Given the description of an element on the screen output the (x, y) to click on. 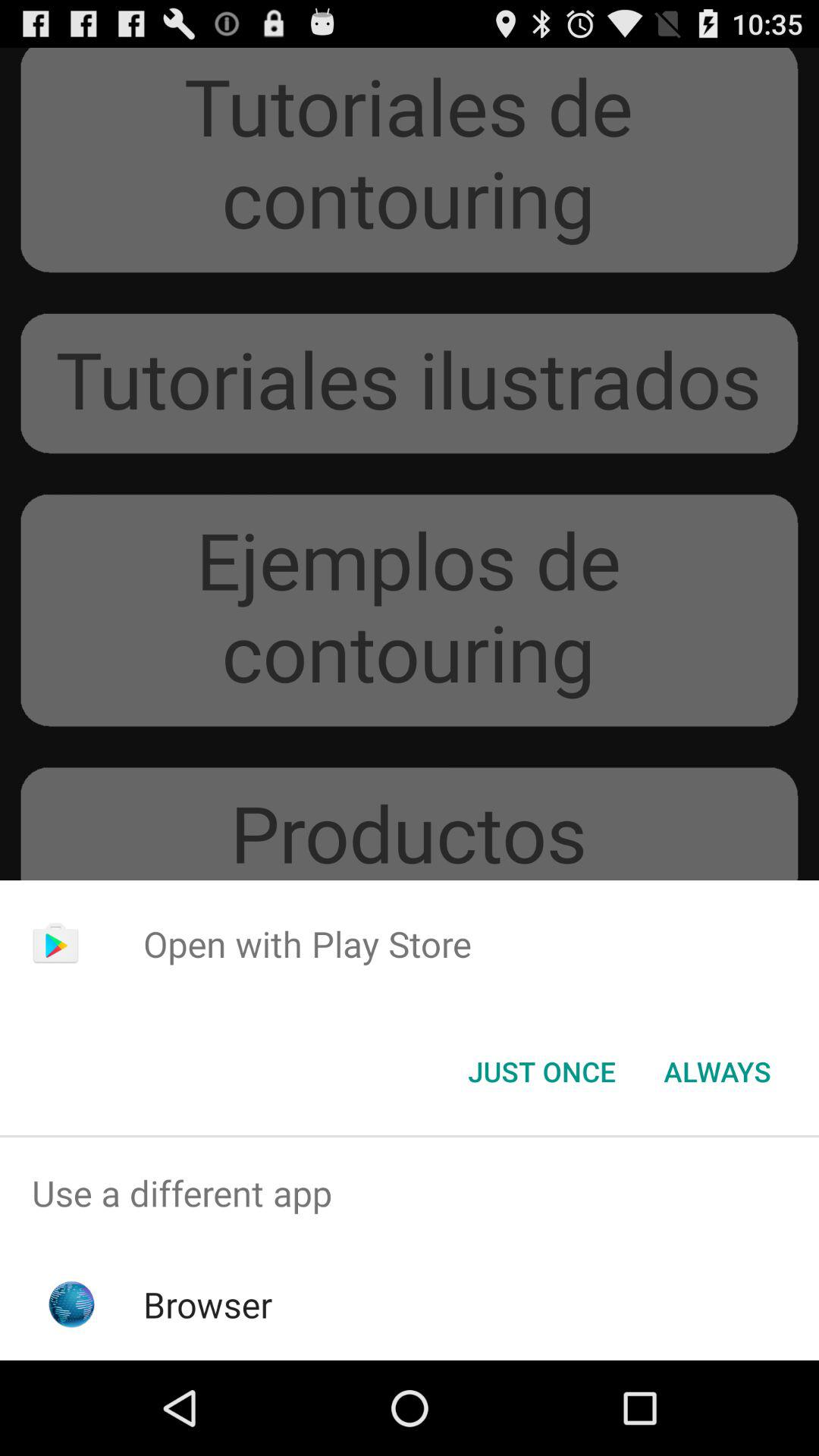
turn on item next to just once (717, 1071)
